Given the description of an element on the screen output the (x, y) to click on. 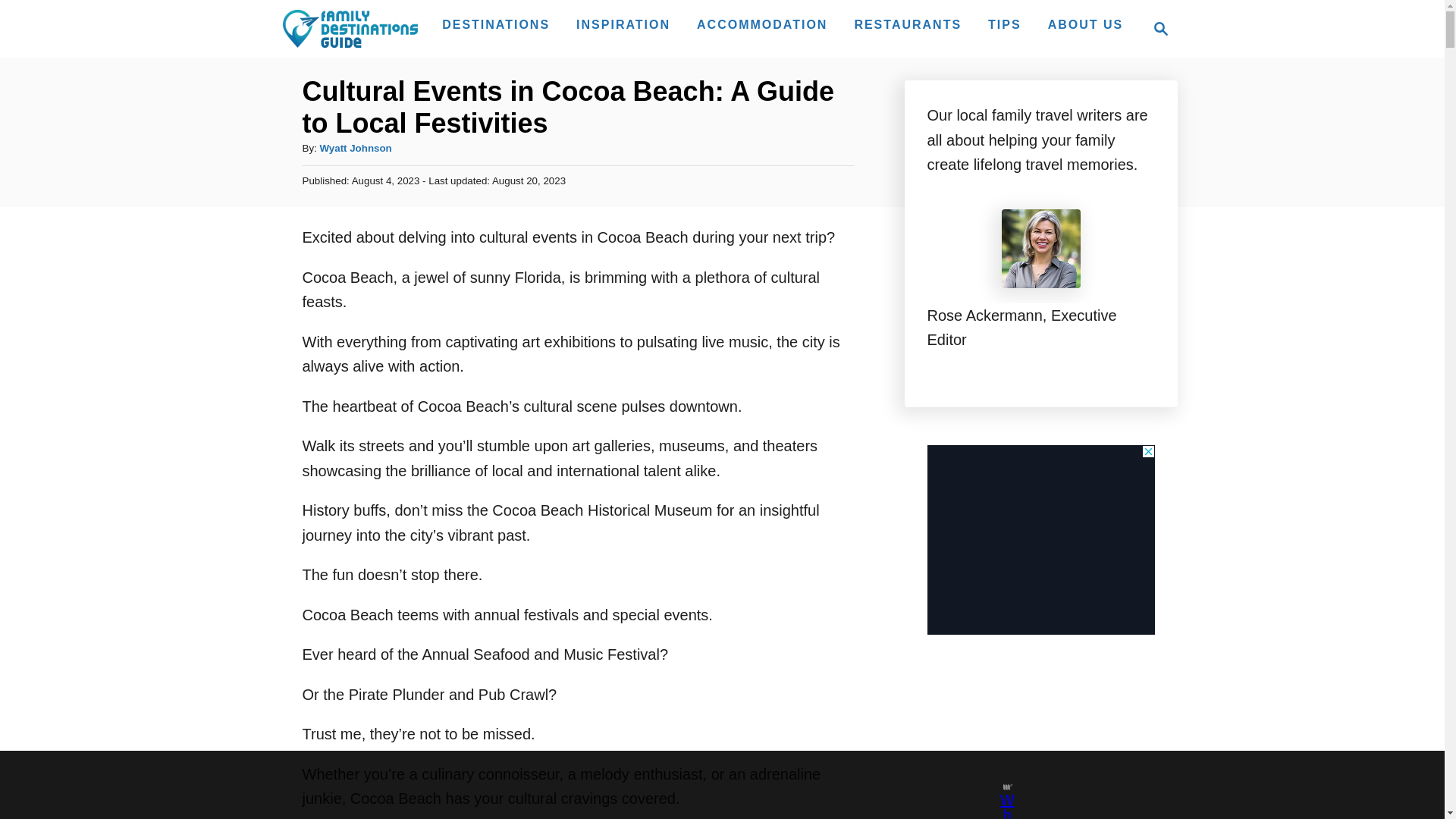
ABOUT US (1086, 24)
Wyatt Johnson (1155, 28)
3rd party ad content (354, 147)
3rd party ad content (708, 785)
RESTAURANTS (1040, 538)
INSPIRATION (907, 24)
Family Destinations Guide (623, 24)
ACCOMMODATION (349, 28)
DESTINATIONS (761, 24)
Magnifying Glass (495, 24)
TIPS (1160, 28)
